Given the description of an element on the screen output the (x, y) to click on. 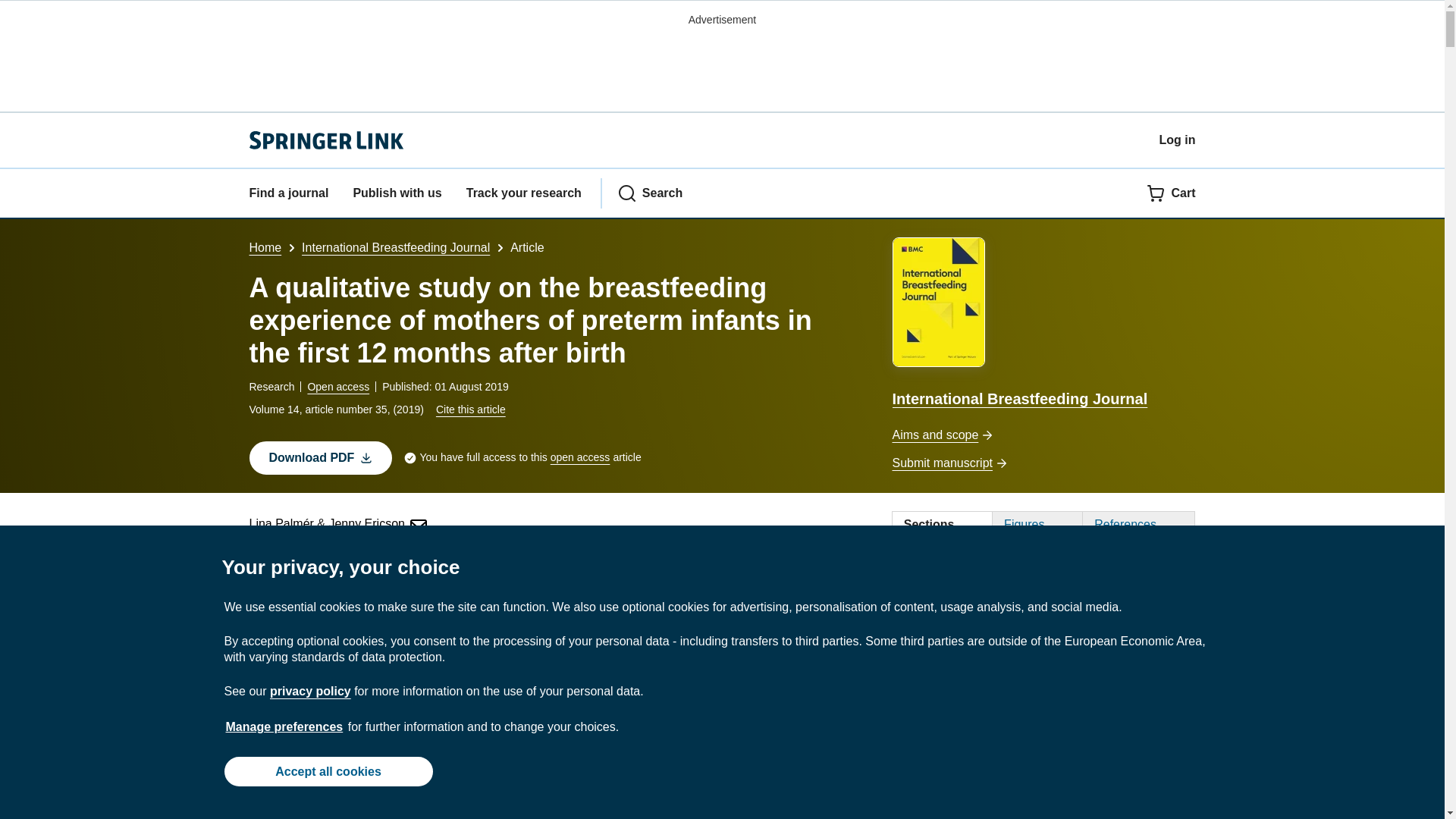
Track your research (524, 192)
Find a journal (288, 192)
Log in (1177, 139)
Search (649, 192)
Home (264, 246)
privacy policy (309, 690)
Accept all cookies (328, 771)
Publish with us (396, 192)
open access (580, 456)
Explore all metrics (613, 563)
Submit manuscript (1043, 463)
Cite this article (470, 409)
Download PDF (319, 458)
International Breastfeeding Journal (1043, 324)
